Given the description of an element on the screen output the (x, y) to click on. 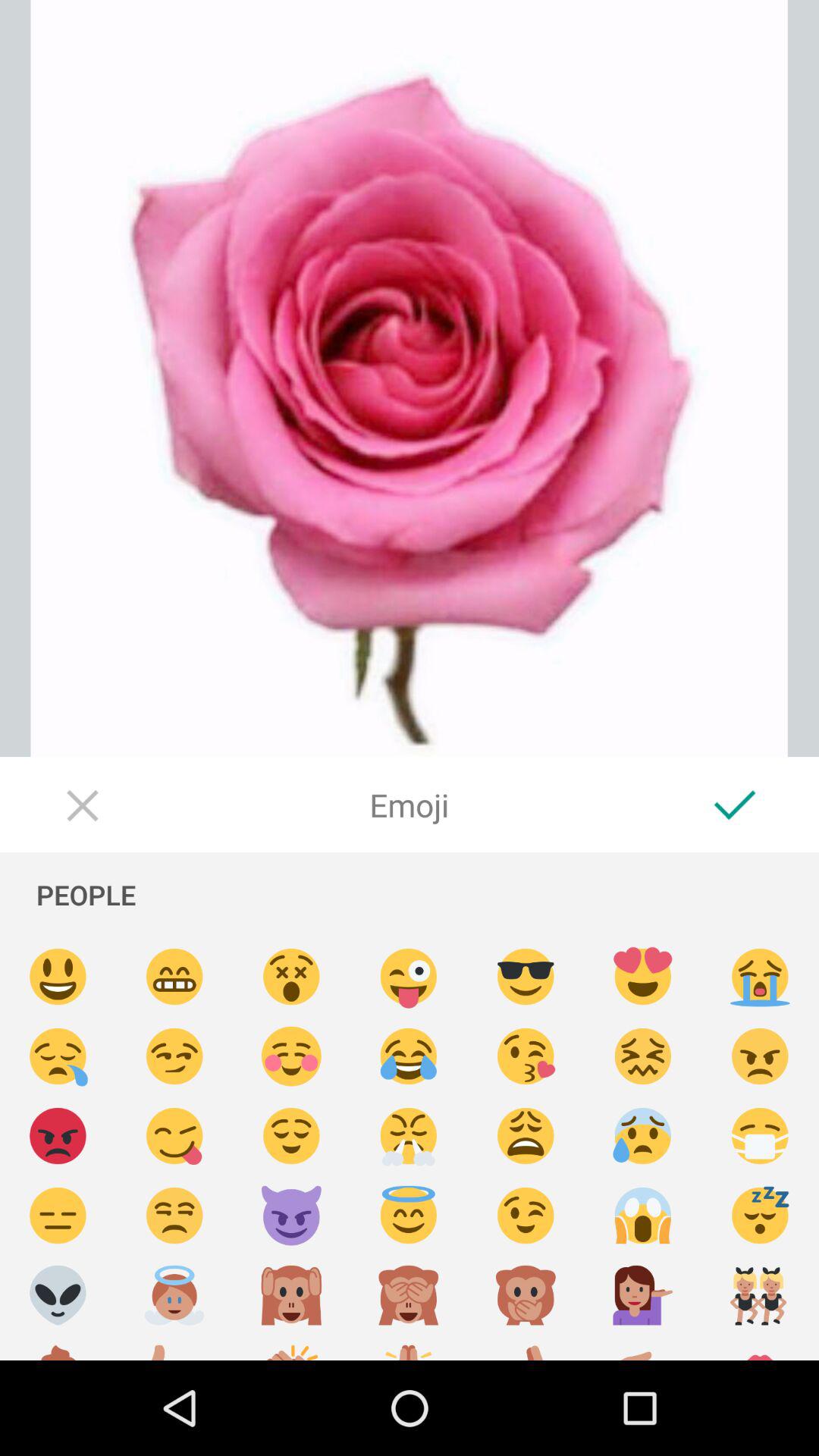
emoji select option (642, 1056)
